Given the description of an element on the screen output the (x, y) to click on. 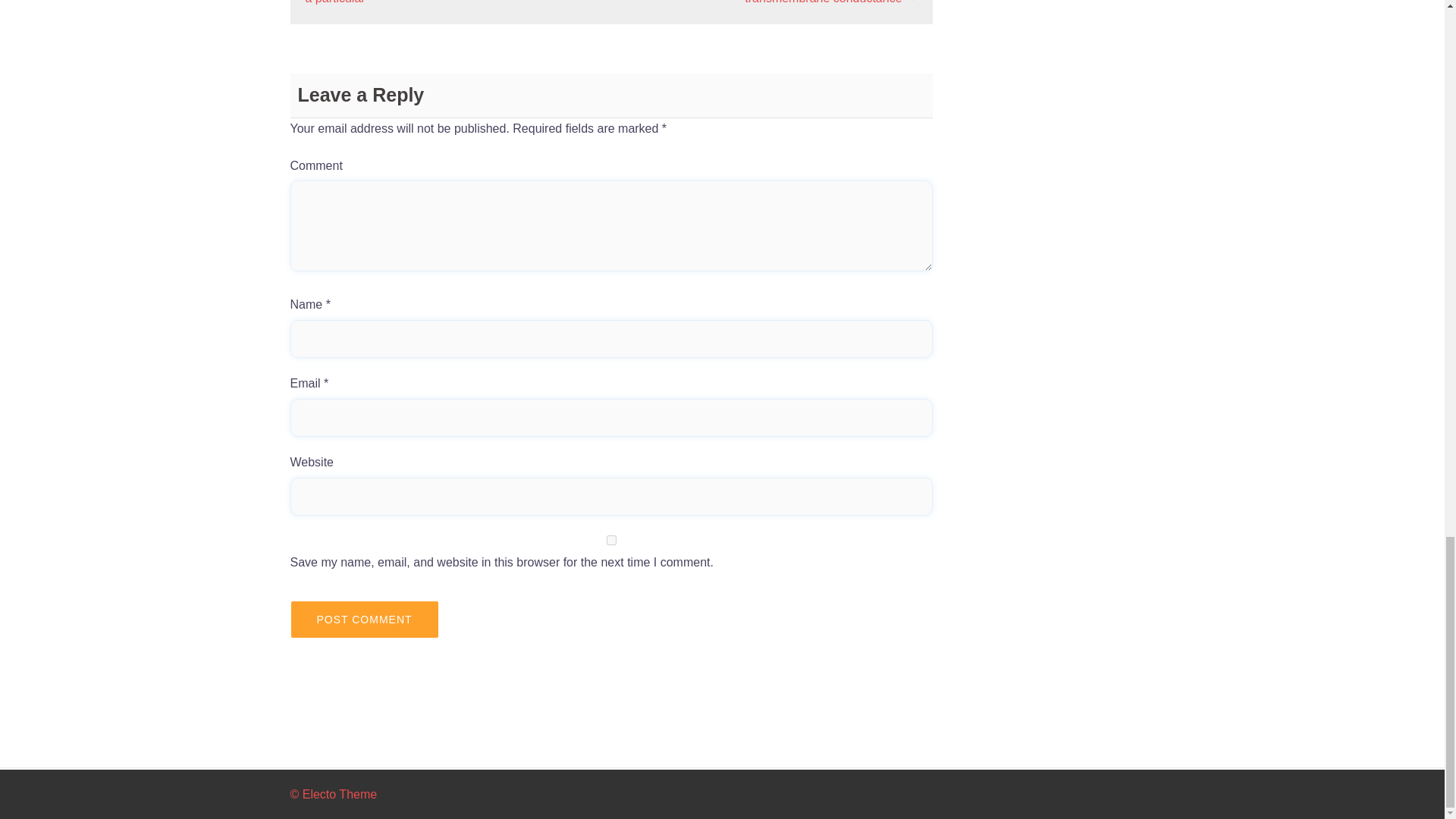
Post Comment (363, 619)
Post Comment (363, 619)
yes (611, 540)
